Given the description of an element on the screen output the (x, y) to click on. 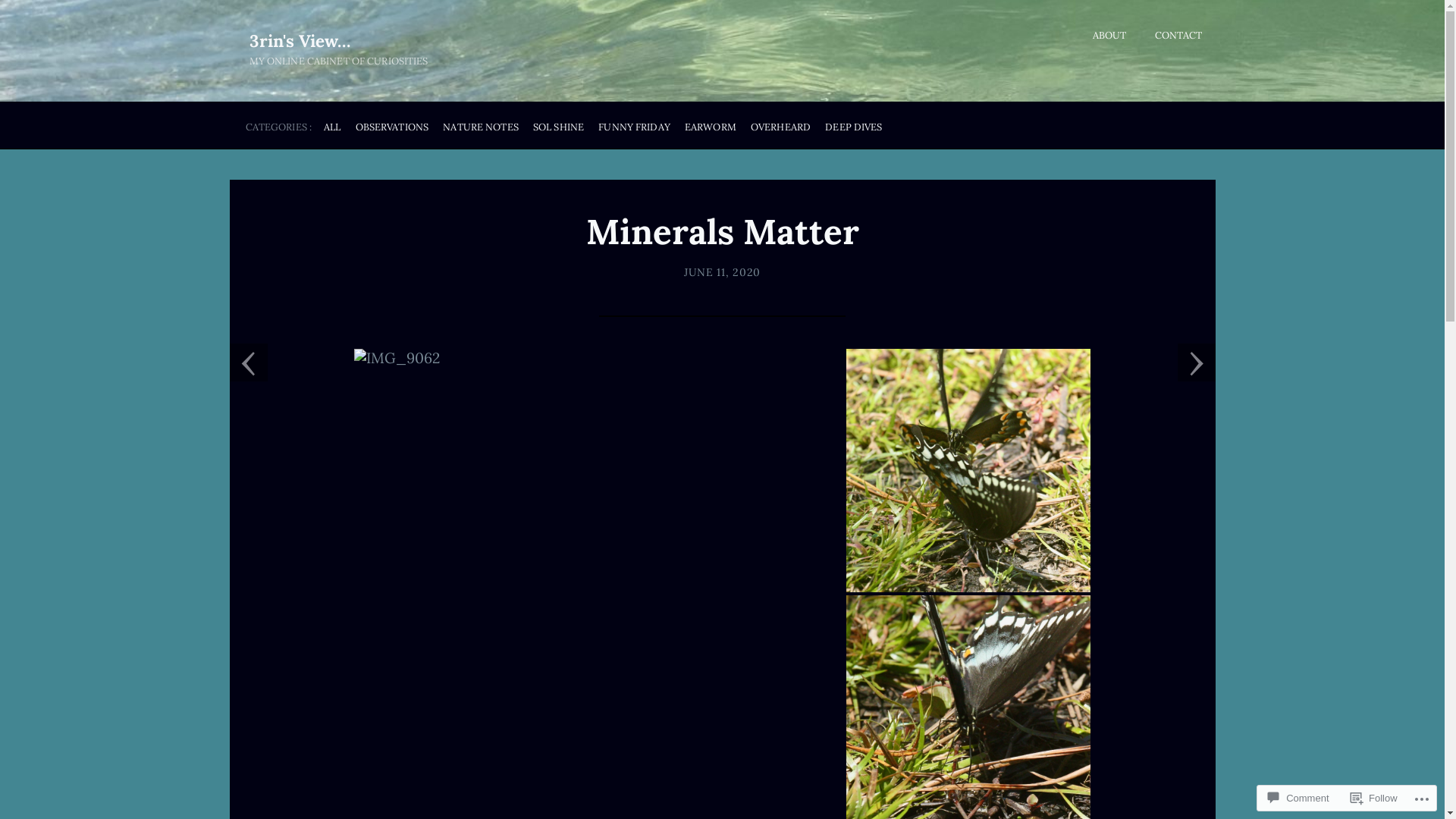
CONTACT Element type: text (1178, 36)
ALL Element type: text (331, 127)
NATURE NOTES Element type: text (480, 127)
DEEP DIVES Element type: text (853, 127)
SOL SHINE Element type: text (558, 127)
ABOUT Element type: text (1109, 36)
Comment Element type: text (1297, 797)
ERIN Element type: text (698, 272)
Follow Element type: text (1373, 797)
EARWORM Element type: text (710, 127)
IMG_9069 Element type: hover (968, 470)
FUNNY FRIDAY Element type: text (634, 127)
OVERHEARD Element type: text (780, 127)
OBSERVATIONS Element type: text (392, 127)
